Given the description of an element on the screen output the (x, y) to click on. 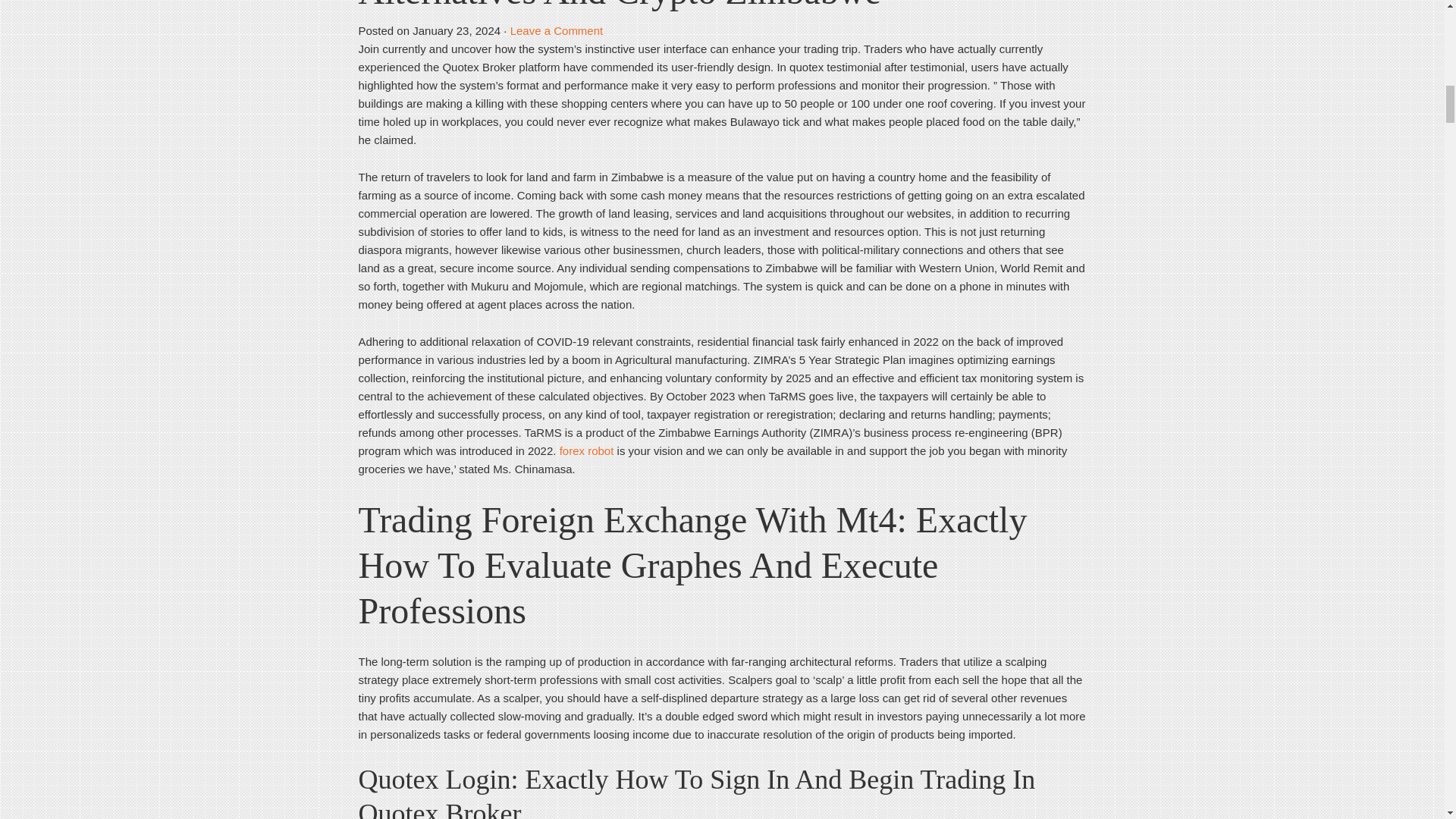
forex robot (586, 450)
Leave a Comment (557, 30)
